Given the description of an element on the screen output the (x, y) to click on. 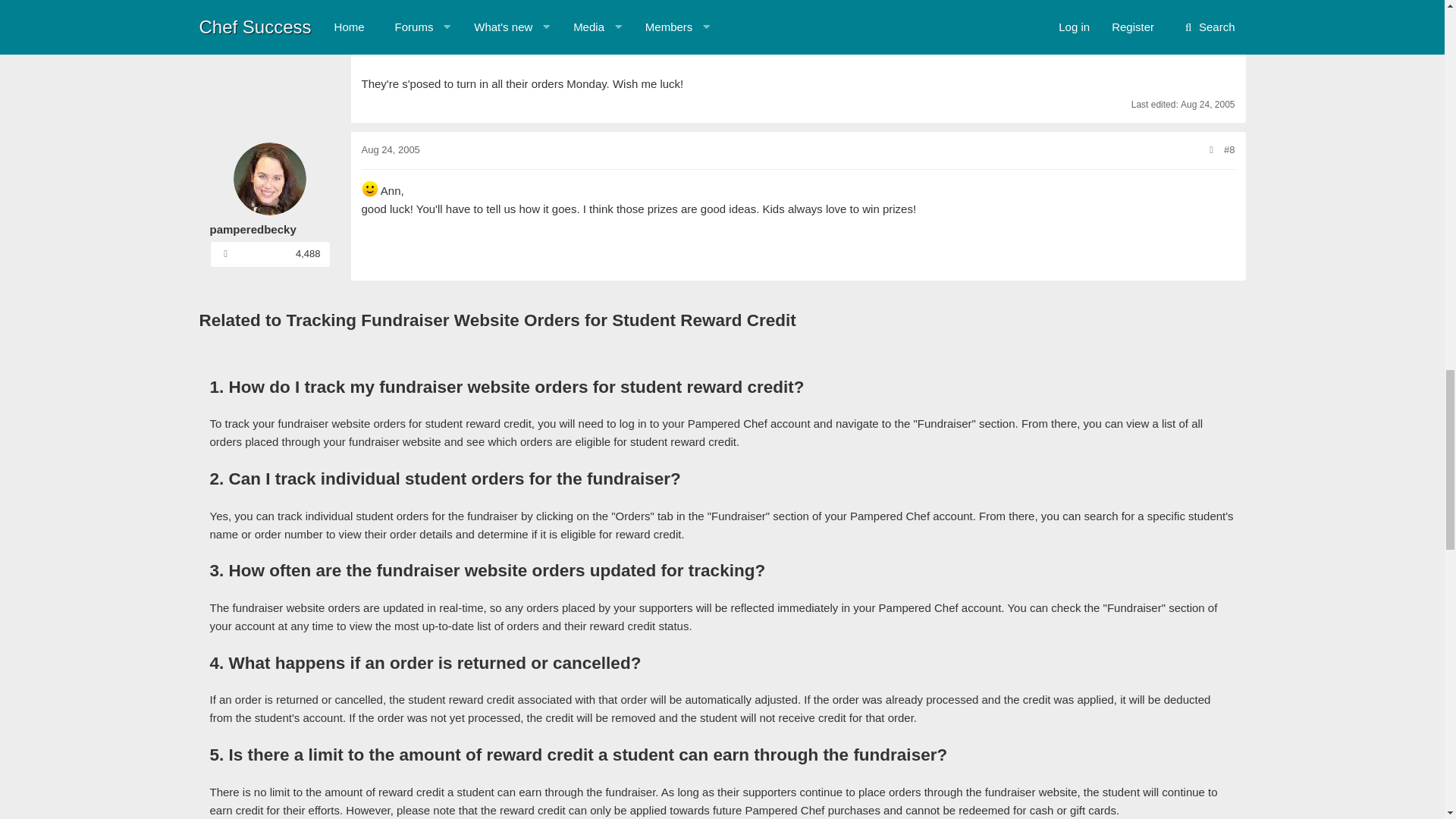
Aug 24, 2005 at 1:10 AM (1207, 104)
Aug 24, 2005 at 9:18 AM (390, 149)
